Given the description of an element on the screen output the (x, y) to click on. 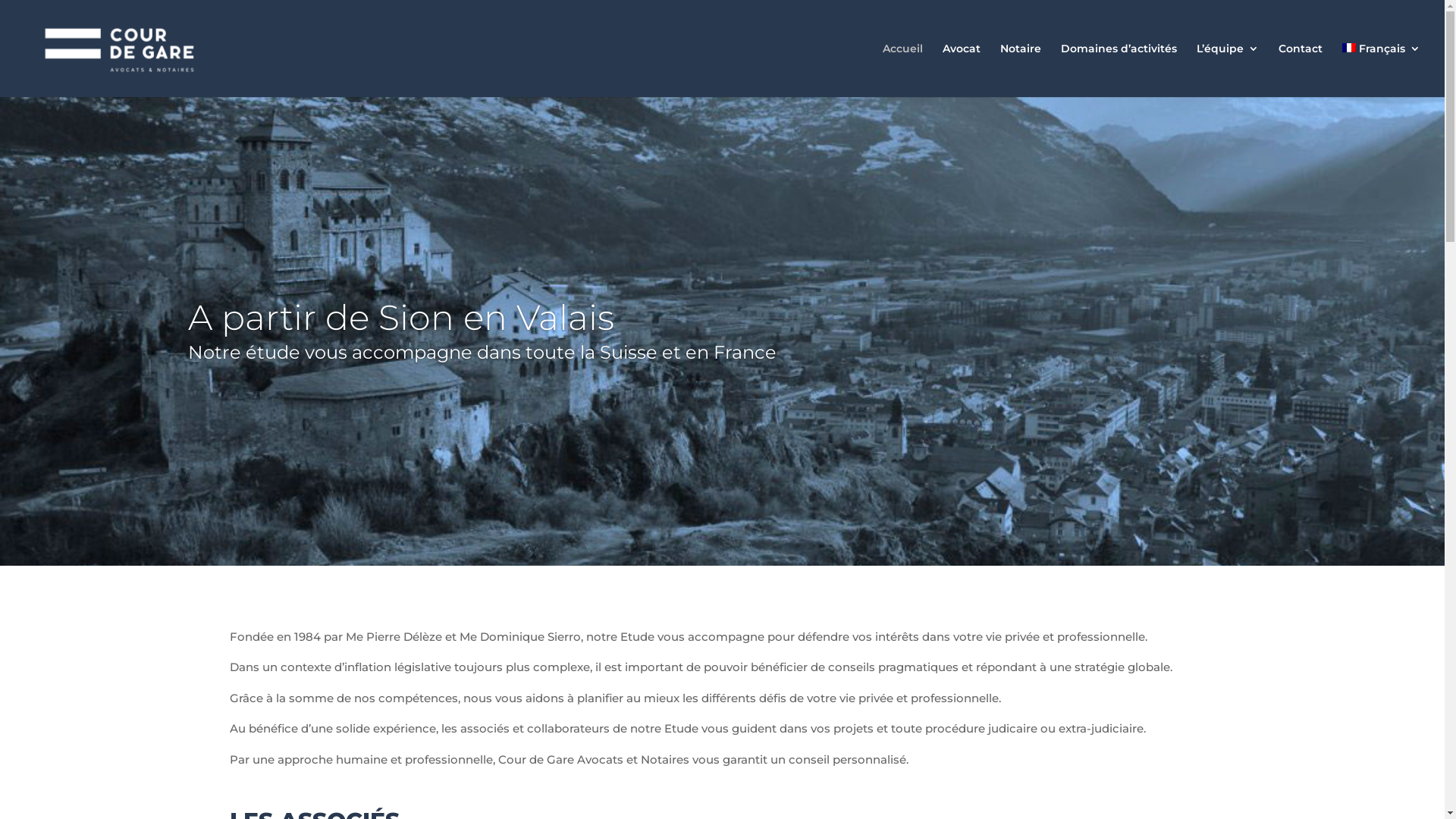
Contact Element type: text (1300, 70)
Notaire Element type: text (1020, 70)
2 Element type: text (721, 533)
1 Element type: text (709, 533)
Avocat Element type: text (961, 70)
Accueil Element type: text (902, 70)
3 Element type: text (734, 533)
